Given the description of an element on the screen output the (x, y) to click on. 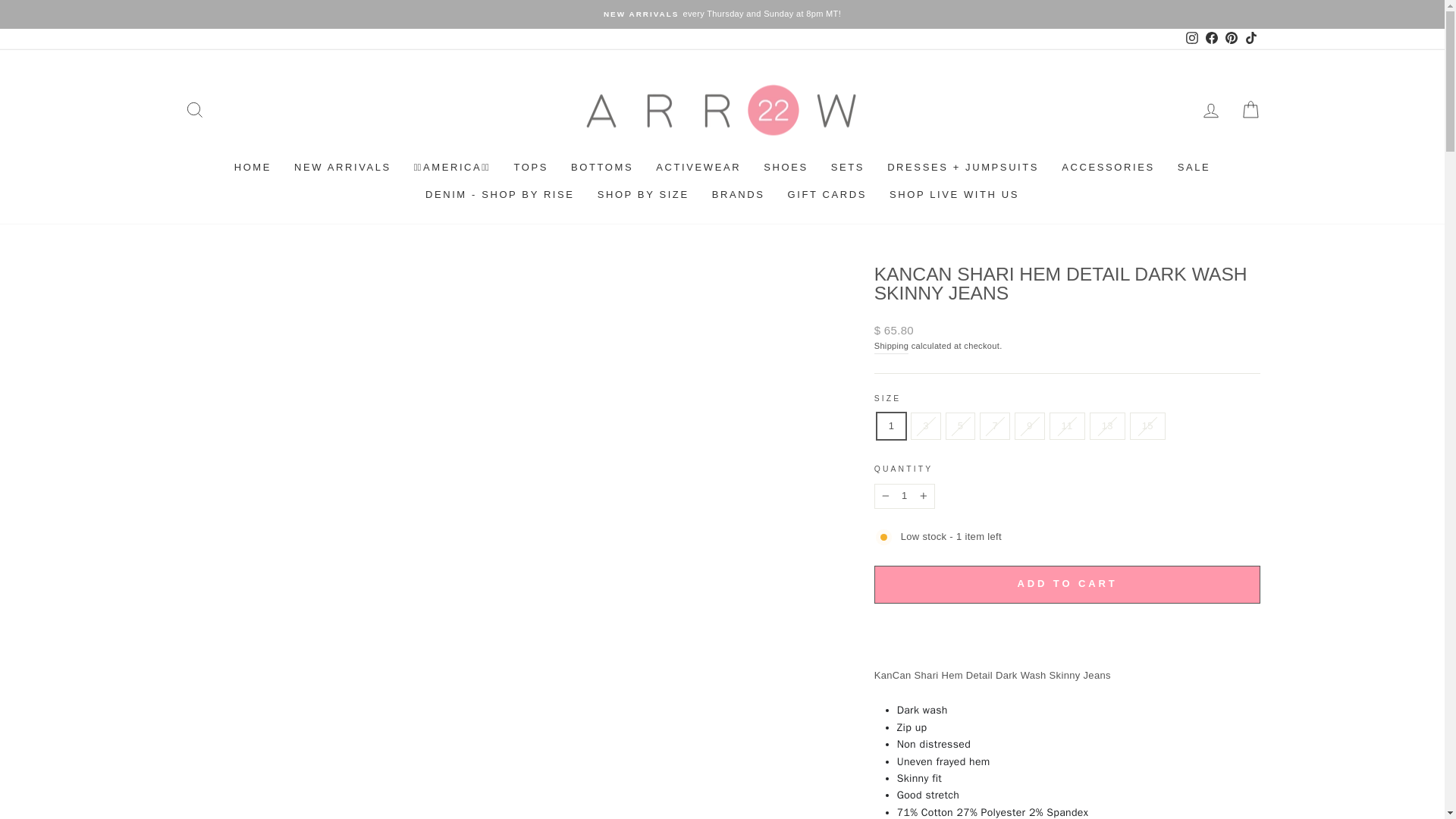
Arrow Twenty Two on Pinterest (1230, 38)
Arrow Twenty Two on TikTok (1250, 38)
1 (904, 496)
Arrow Twenty Two on Facebook (1211, 38)
